Given the description of an element on the screen output the (x, y) to click on. 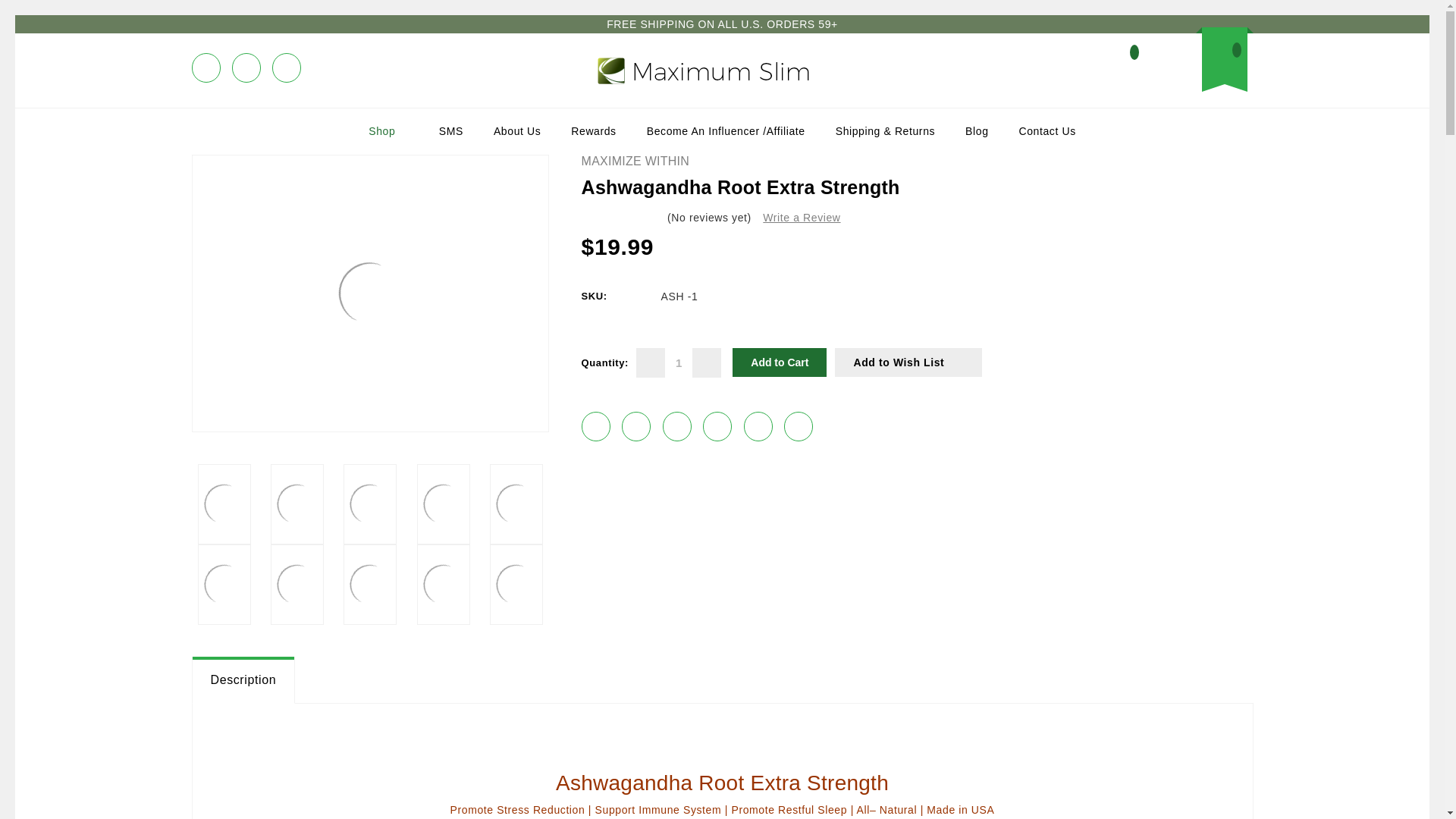
Add to Cart (779, 362)
Ashwagandha Root Extra Strength (369, 293)
MaximumSlim Health Products (702, 70)
Shop (388, 130)
Search (1148, 62)
1 (679, 362)
Cart (1223, 59)
Compare (1119, 66)
